Given the description of an element on the screen output the (x, y) to click on. 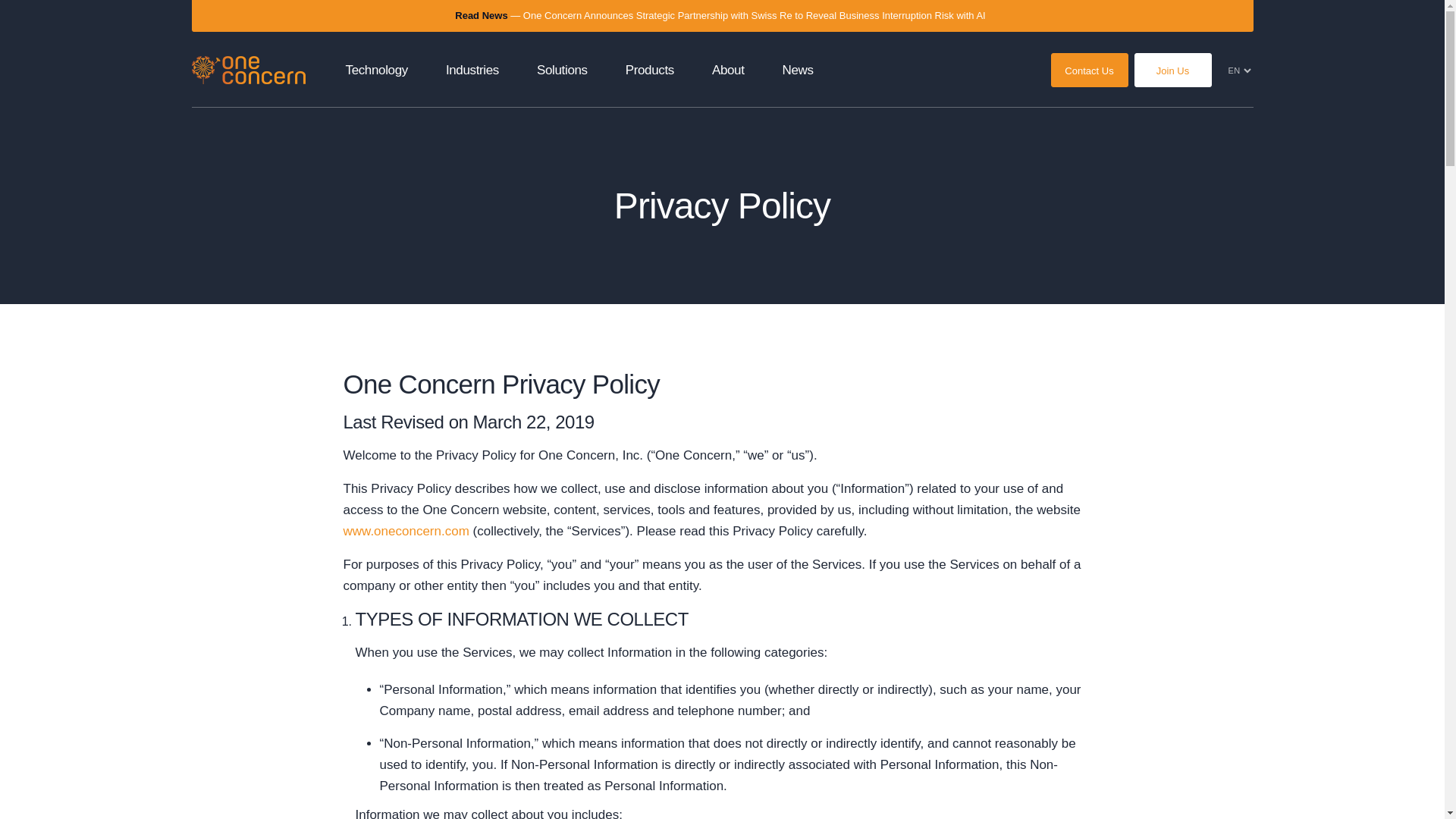
Industries (472, 69)
Products (650, 69)
News (798, 69)
Contact Us (1089, 69)
About (727, 69)
Solutions (562, 69)
Technology (376, 69)
Join Us (1172, 69)
